Given the description of an element on the screen output the (x, y) to click on. 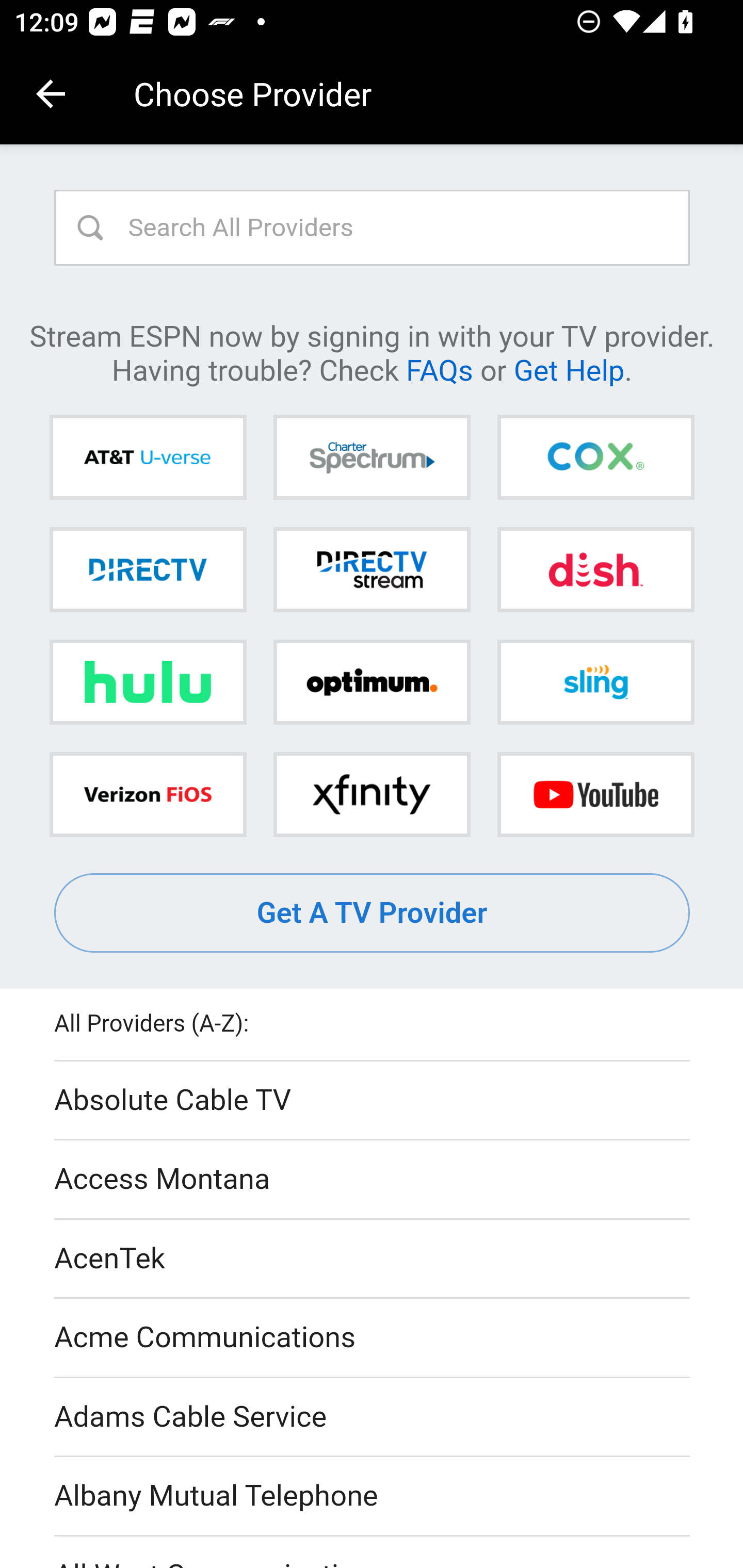
Navigate up (50, 93)
FAQs (438, 369)
Get Help (569, 369)
AT&T U-verse (147, 457)
Charter Spectrum (371, 457)
Cox (595, 457)
DIRECTV (147, 568)
DIRECTV STREAM (371, 568)
DISH (595, 568)
Hulu (147, 681)
Optimum (371, 681)
Sling TV (595, 681)
Verizon FiOS (147, 793)
Xfinity (371, 793)
YouTube TV (595, 793)
Get A TV Provider (372, 912)
Absolute Cable TV (372, 1100)
Access Montana (372, 1178)
AcenTek (372, 1258)
Acme Communications (372, 1338)
Adams Cable Service (372, 1417)
Albany Mutual Telephone (372, 1497)
